Given the description of an element on the screen output the (x, y) to click on. 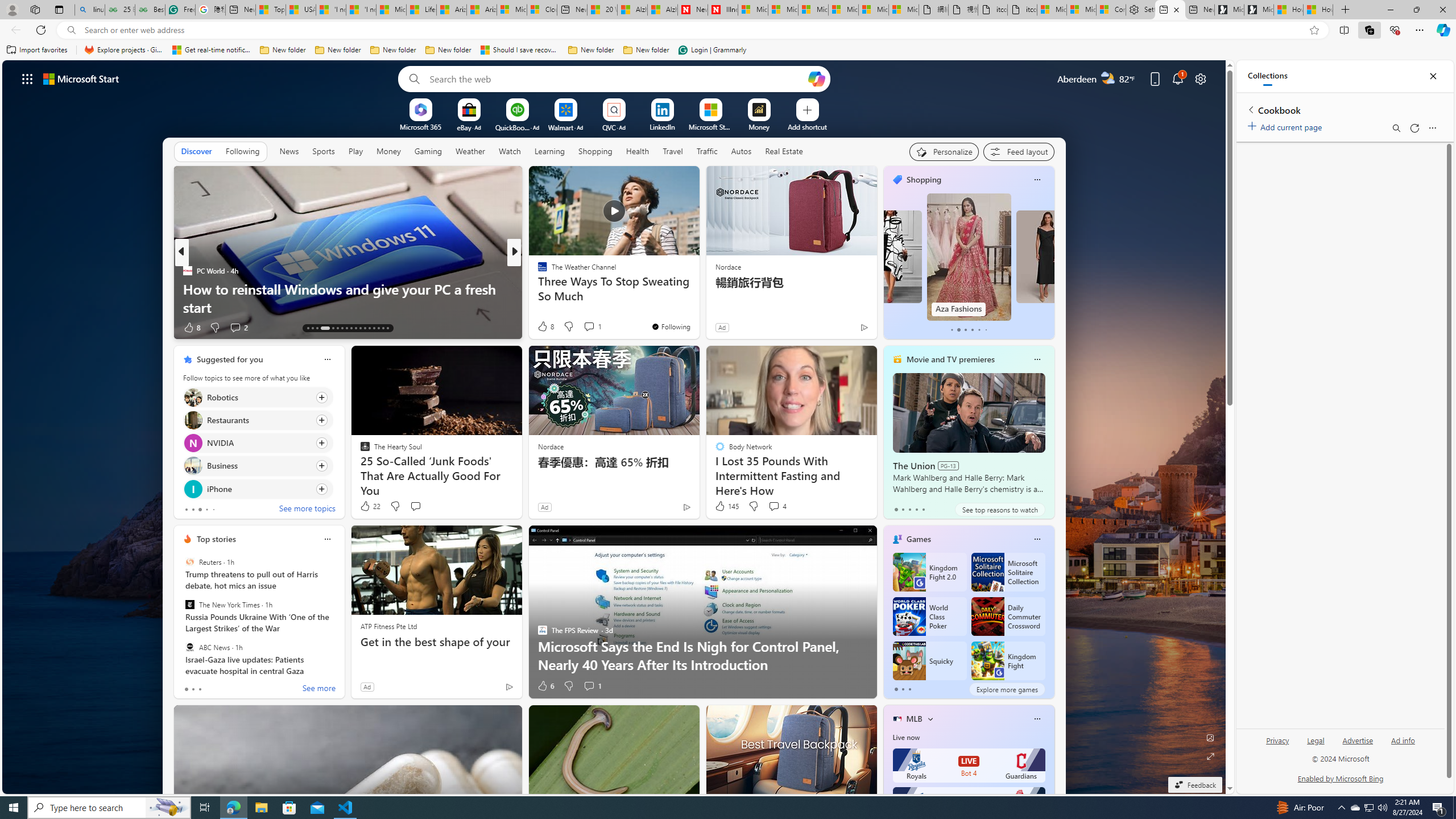
Suggested for you (229, 359)
Search icon (70, 29)
How to Use a Monitor With Your Closed Laptop (697, 307)
Should I save recovered Word documents? - Microsoft Support (519, 49)
AutomationID: tab-18 (337, 328)
App launcher (27, 78)
8 Like (545, 326)
147 Like (545, 327)
AutomationID: tab-25 (368, 328)
Real Estate (783, 151)
222 Like (545, 327)
Body Network (537, 288)
